Given the description of an element on the screen output the (x, y) to click on. 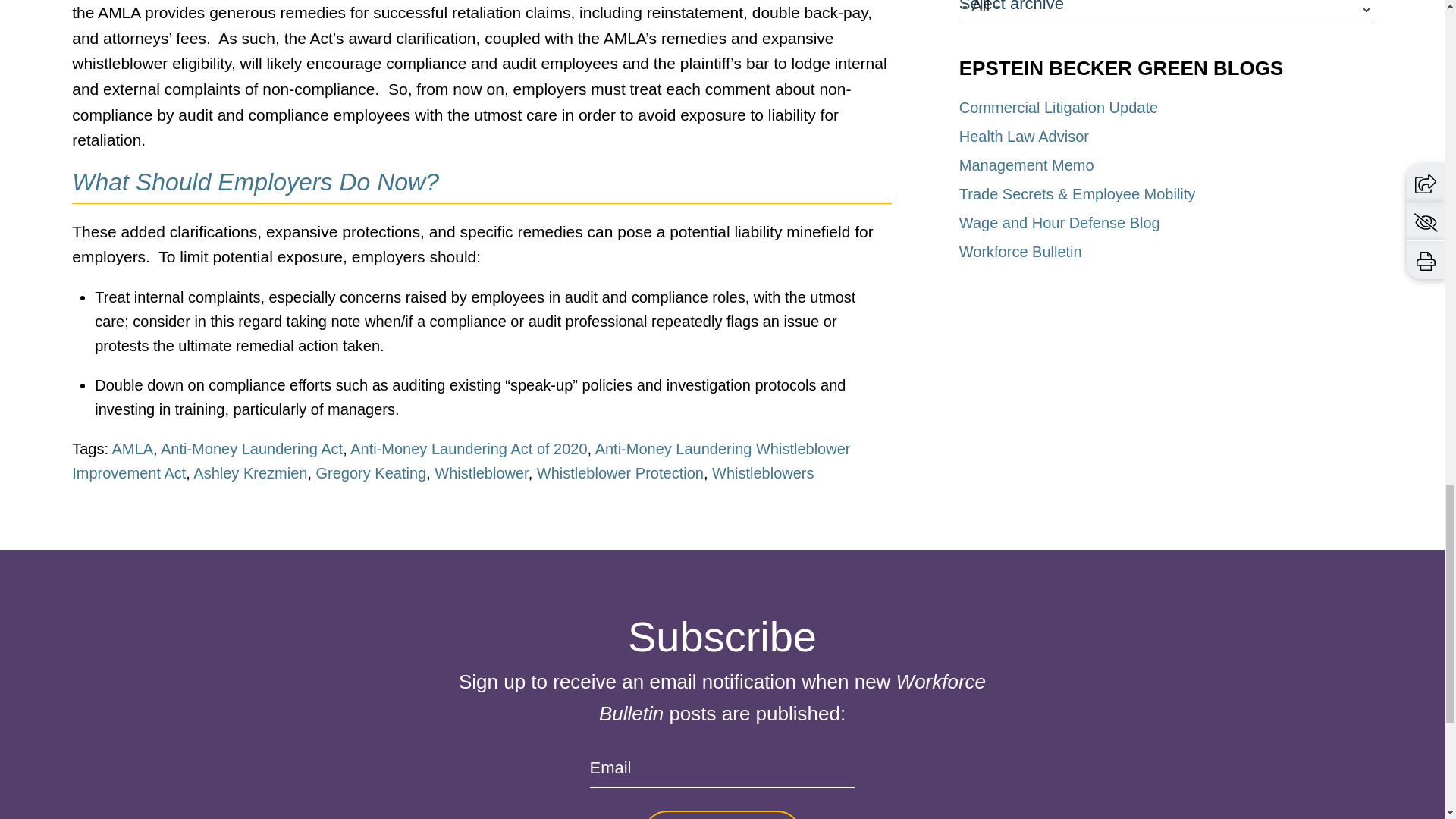
Whistleblower Protection (620, 473)
Anti-Money Laundering Whistleblower Improvement Act (460, 460)
Gregory Keating (370, 473)
Whistleblowers (762, 473)
Anti-Money Laundering Act (251, 448)
AMLA (132, 448)
Anti-Money Laundering Act of 2020 (468, 448)
Ashley Krezmien (250, 473)
Whistleblower (480, 473)
